Given the description of an element on the screen output the (x, y) to click on. 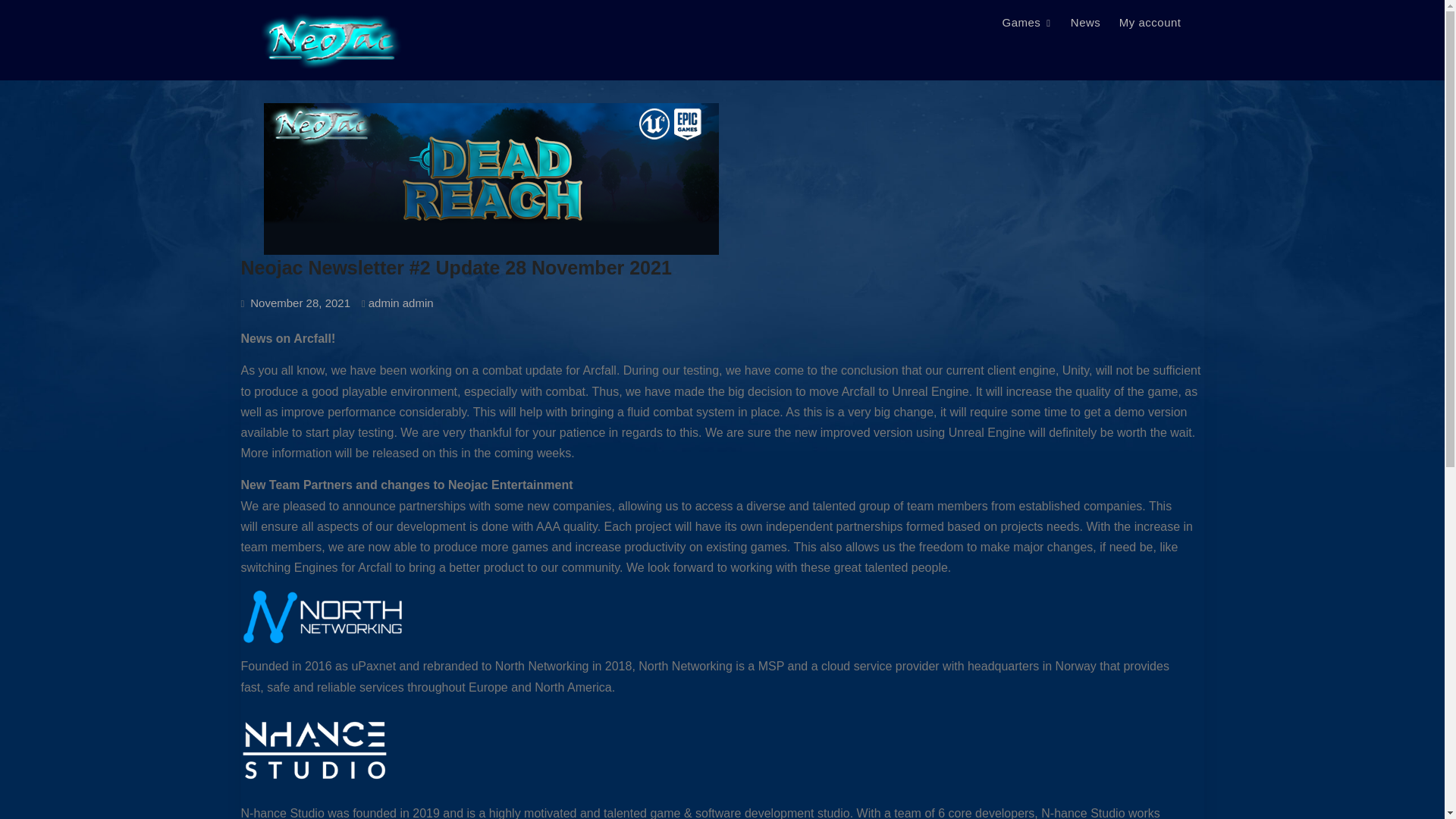
News (1085, 22)
admin admin (400, 302)
Games (1026, 22)
Neojac Entertainment Inc. (540, 28)
November 28, 2021 (300, 302)
My account (1150, 22)
